Given the description of an element on the screen output the (x, y) to click on. 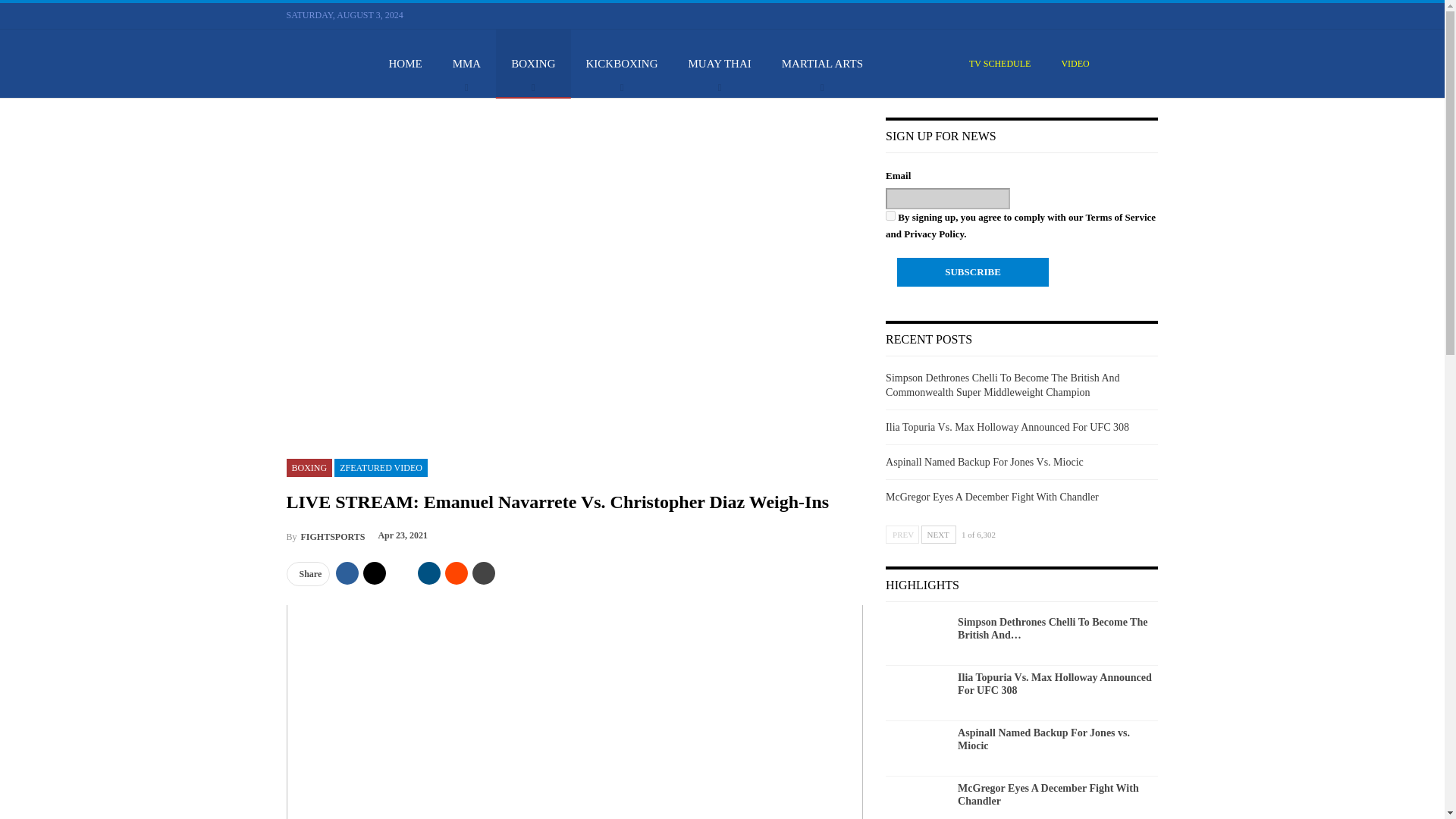
MMA (467, 63)
twitter (1096, 13)
instagram (1132, 13)
on (890, 215)
HOME (404, 63)
youtube (1114, 13)
facebook (1077, 13)
twitter (1096, 14)
facebook (1078, 14)
KICKBOXING (621, 63)
youtube (1114, 14)
BOXING (533, 63)
instagram (1132, 14)
Subscribe (972, 271)
